Given the description of an element on the screen output the (x, y) to click on. 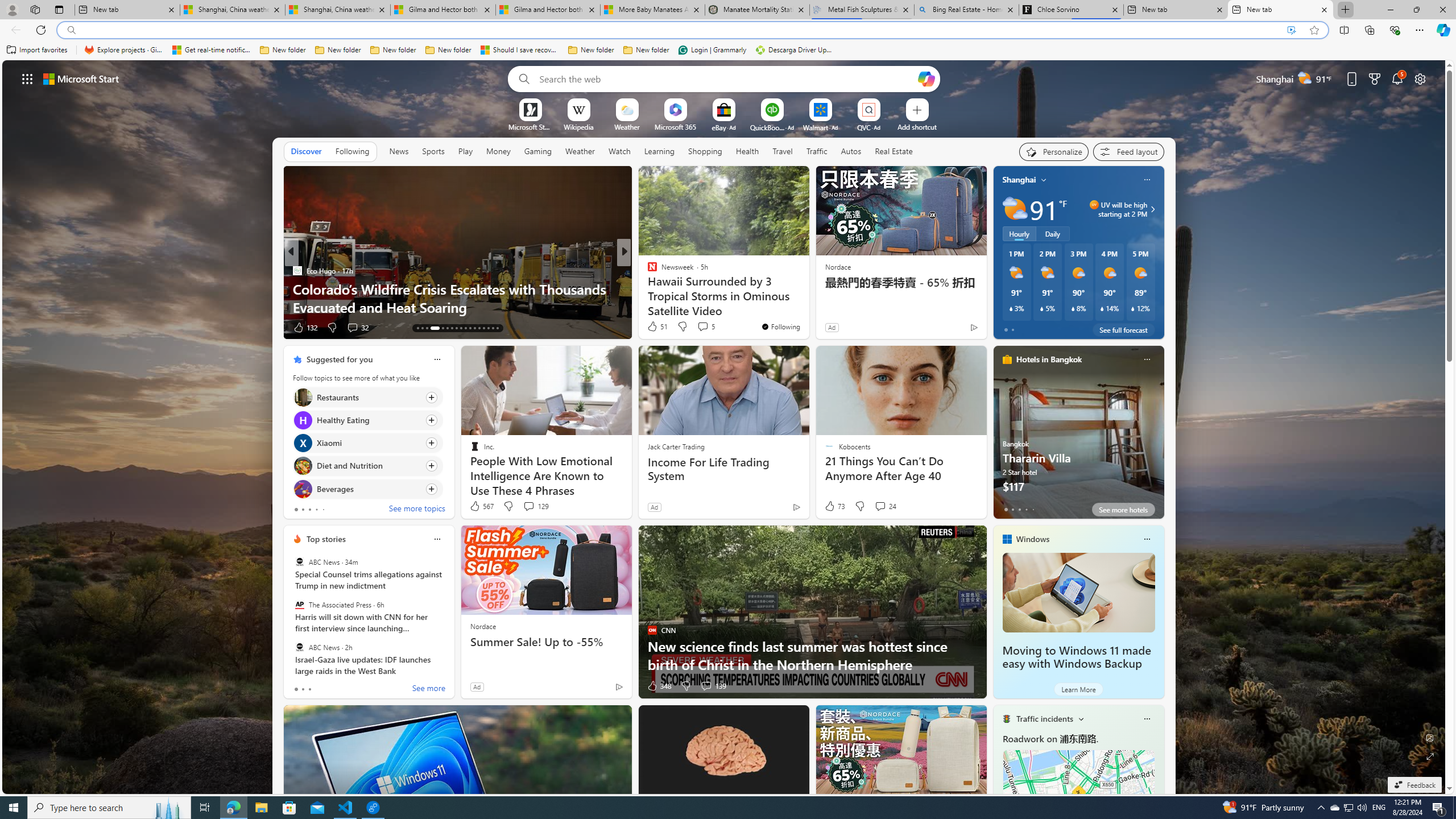
The Weather Channel (647, 270)
Traffic Title Traffic Light (1005, 718)
AutomationID: waffle (27, 78)
Click to follow topic Beverages (367, 488)
Nordace.com (663, 288)
View comments 7 Comment (698, 327)
Daily Caller (647, 270)
Login | Grammarly (712, 49)
AutomationID: tab-33 (497, 328)
